Given the description of an element on the screen output the (x, y) to click on. 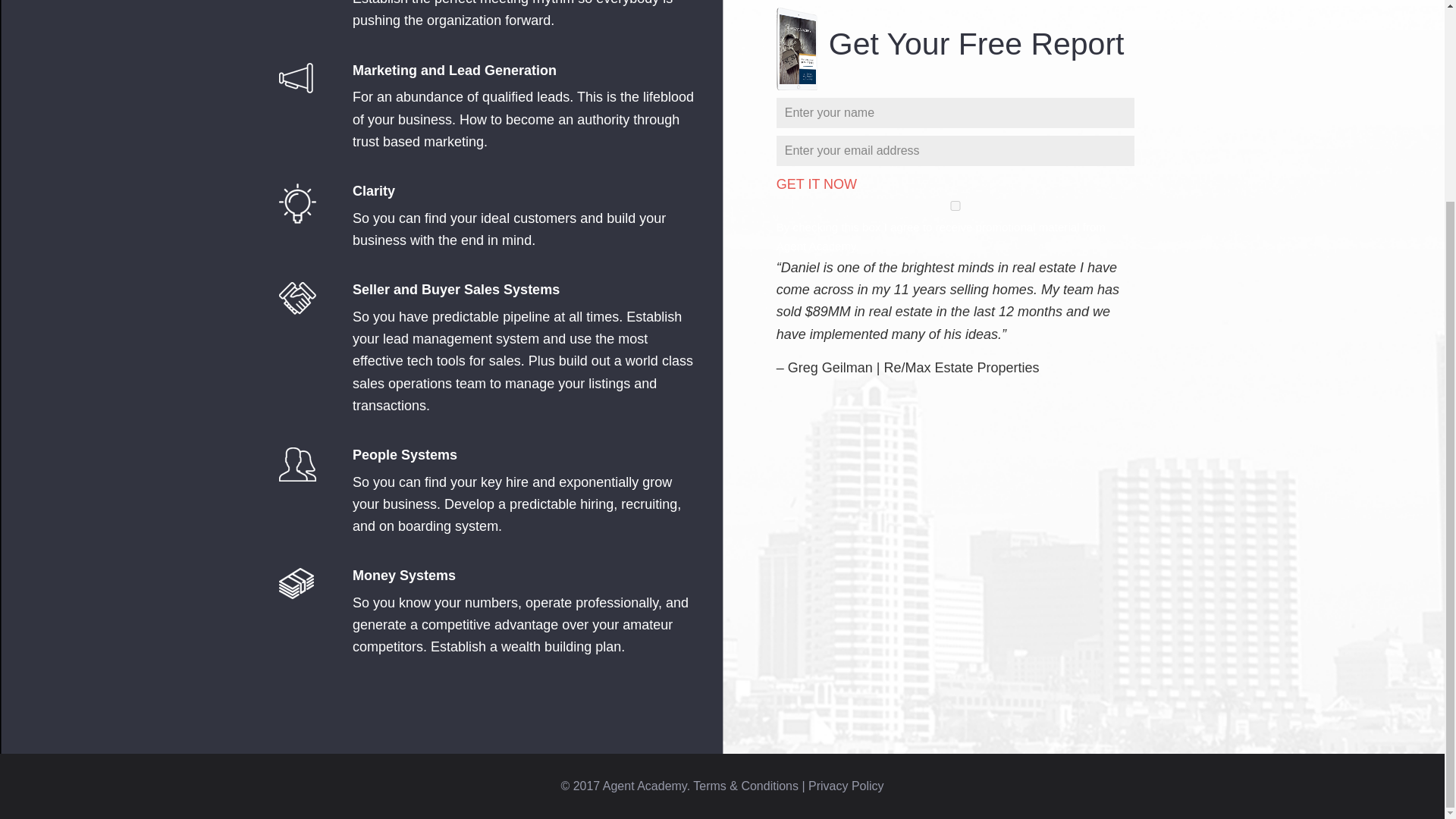
on (955, 205)
Privacy Policy (845, 785)
GET IT NOW (816, 183)
